Given the description of an element on the screen output the (x, y) to click on. 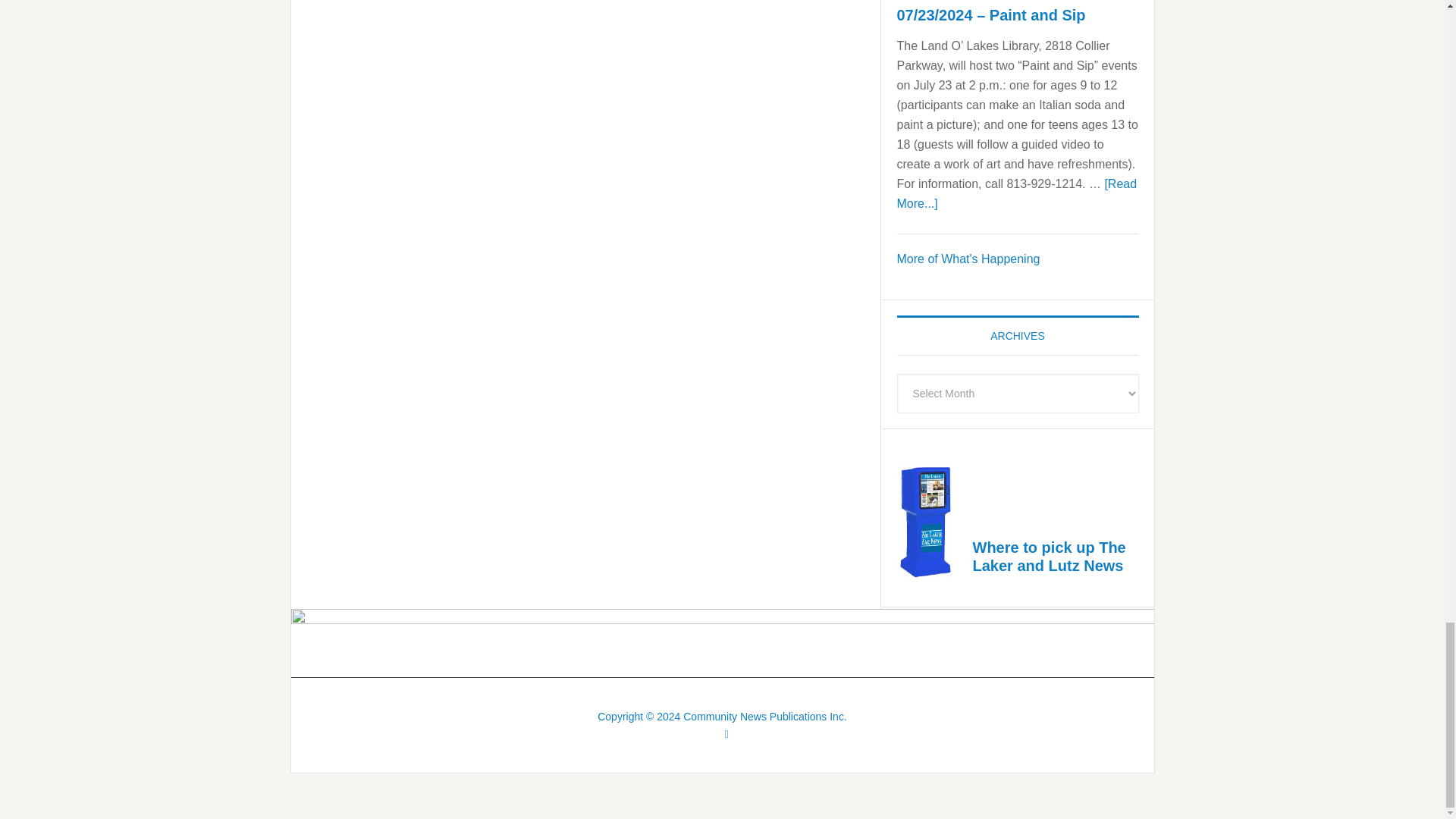
What's Happening (967, 258)
